Given the description of an element on the screen output the (x, y) to click on. 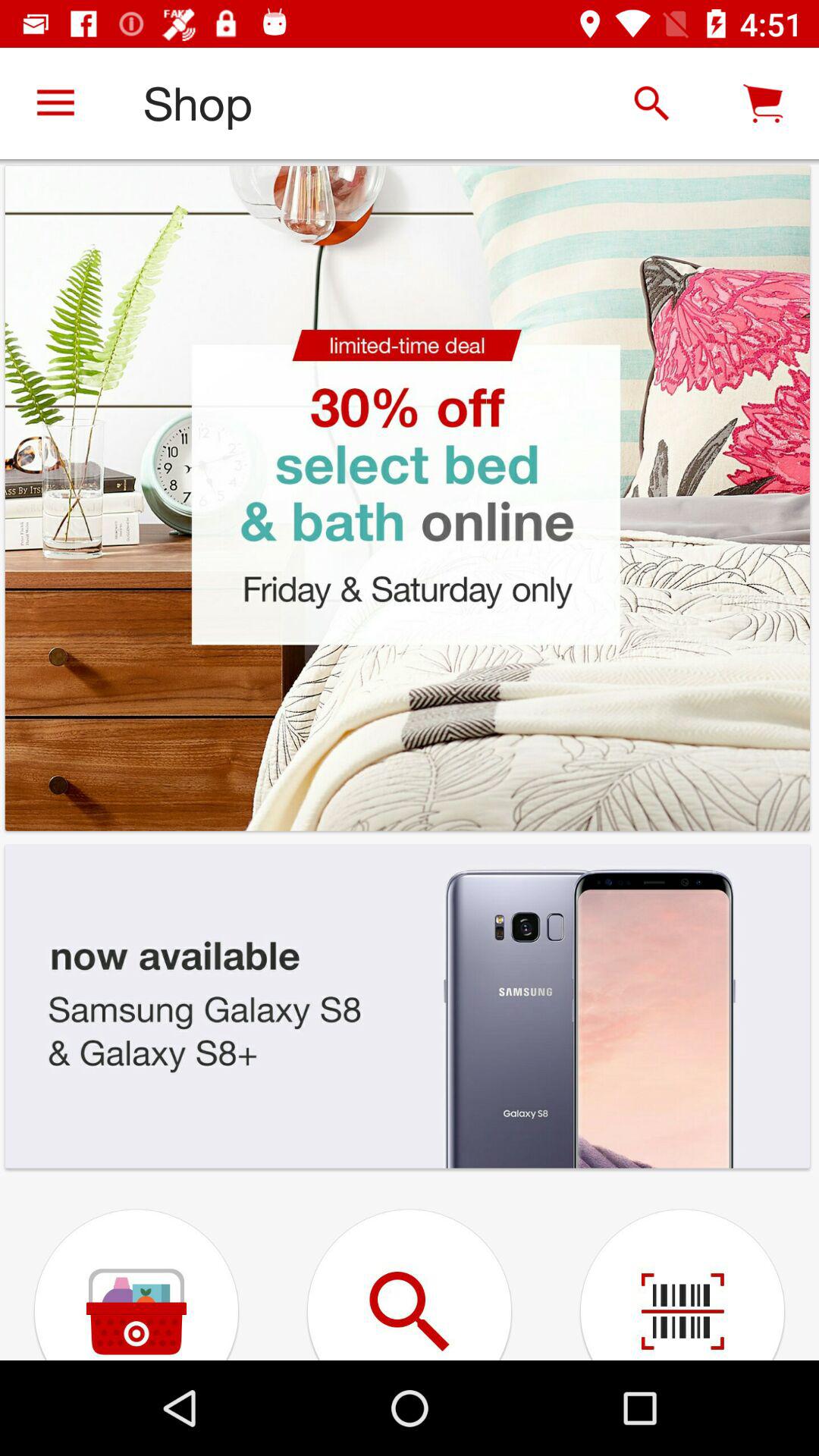
choose the item next to shop icon (651, 103)
